Given the description of an element on the screen output the (x, y) to click on. 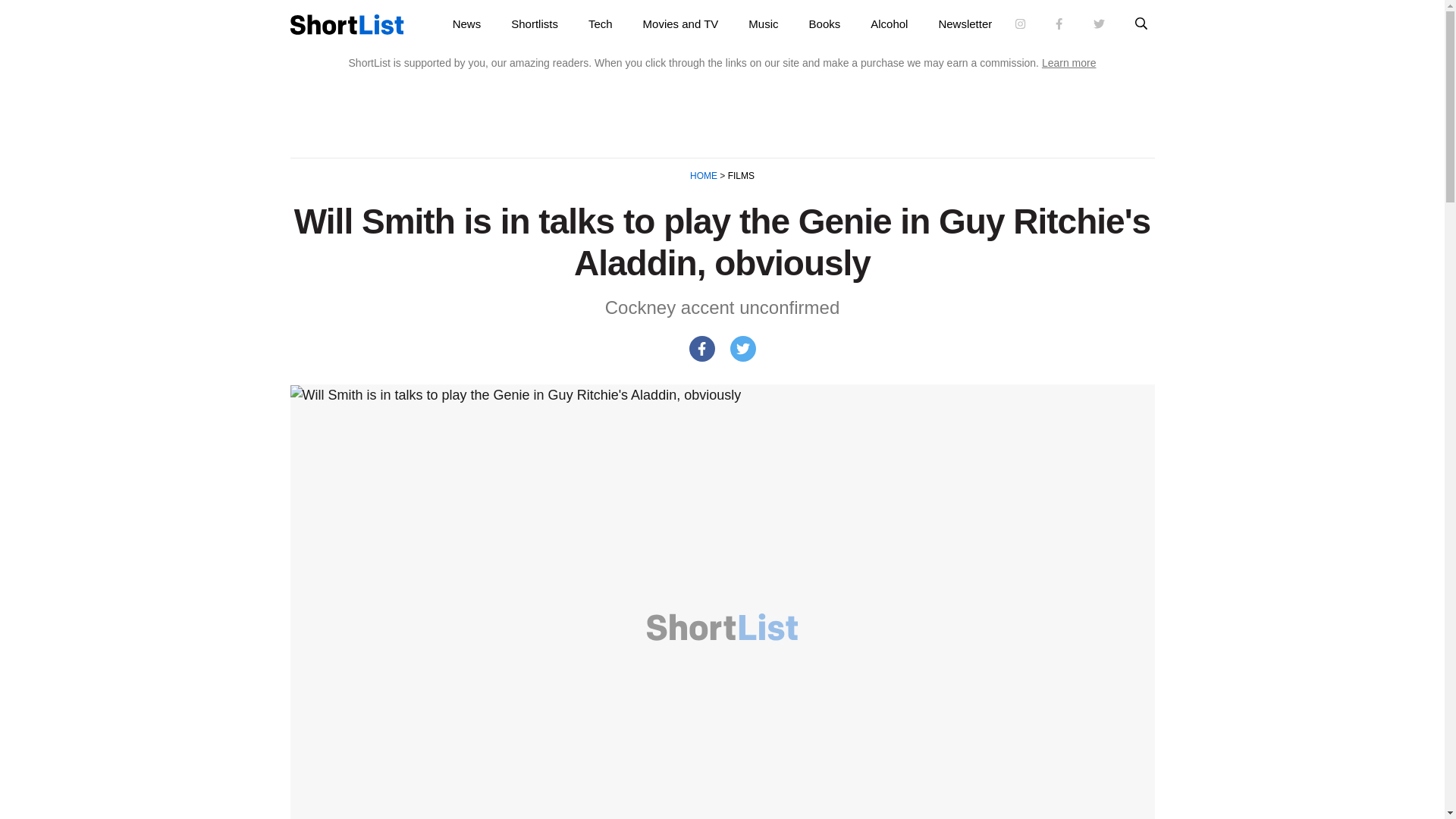
Alcohol (889, 23)
Visit :sitename on Instagram (1020, 24)
HOME (704, 175)
Learn more (1069, 62)
Shortlist (346, 24)
Twitter (742, 348)
FILMS (739, 175)
Newsletter (965, 23)
Facebook (701, 348)
Shortlists (534, 23)
